Given the description of an element on the screen output the (x, y) to click on. 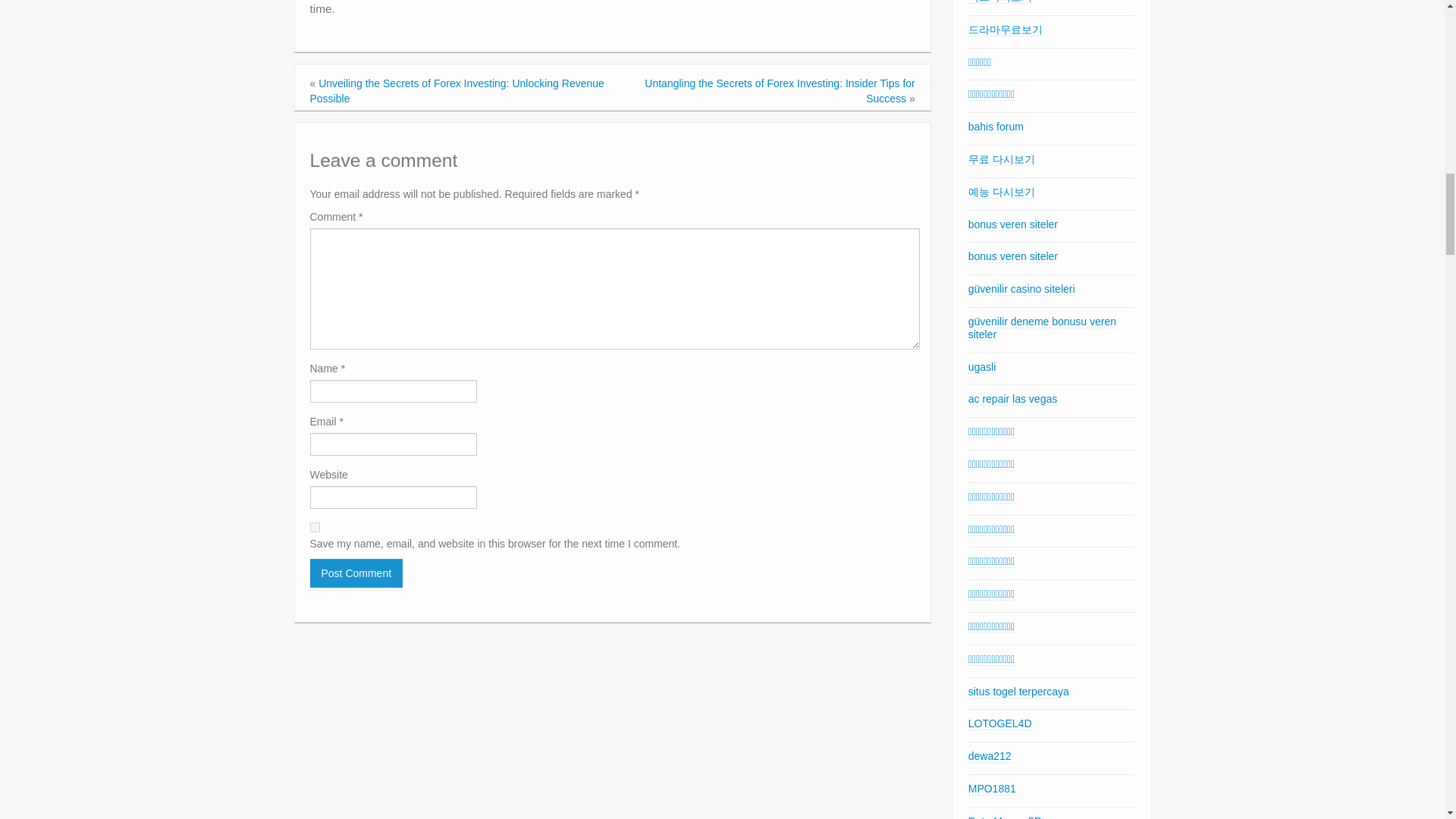
Post Comment (355, 573)
yes (313, 527)
Post Comment (355, 573)
